Given the description of an element on the screen output the (x, y) to click on. 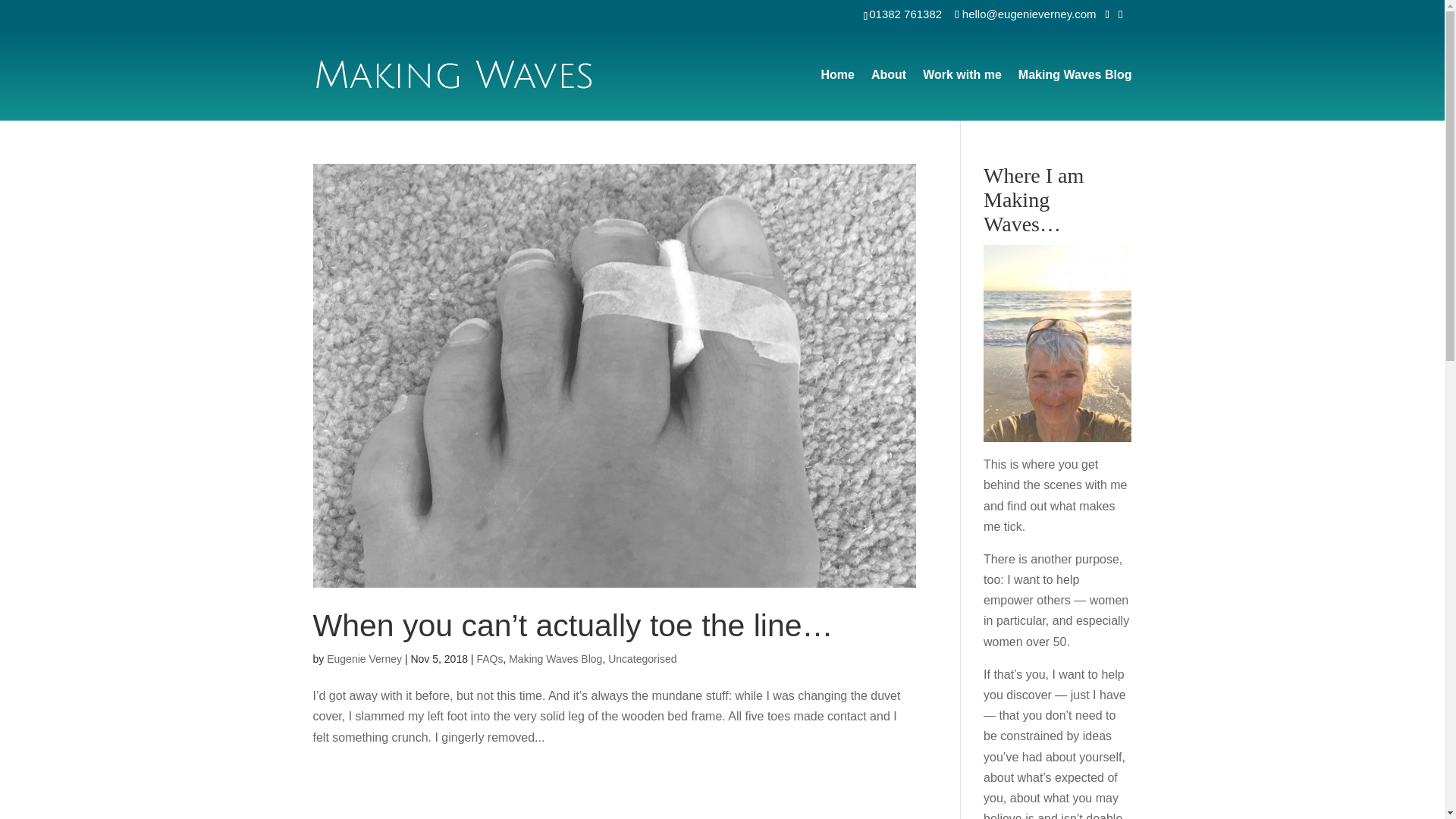
Home (837, 94)
Work with me (962, 94)
Uncategorised (642, 658)
Making Waves Blog (555, 658)
Eugenie Verney (363, 658)
Posts by Eugenie Verney (363, 658)
FAQs (489, 658)
About (887, 94)
Making Waves Blog (1074, 94)
